Given the description of an element on the screen output the (x, y) to click on. 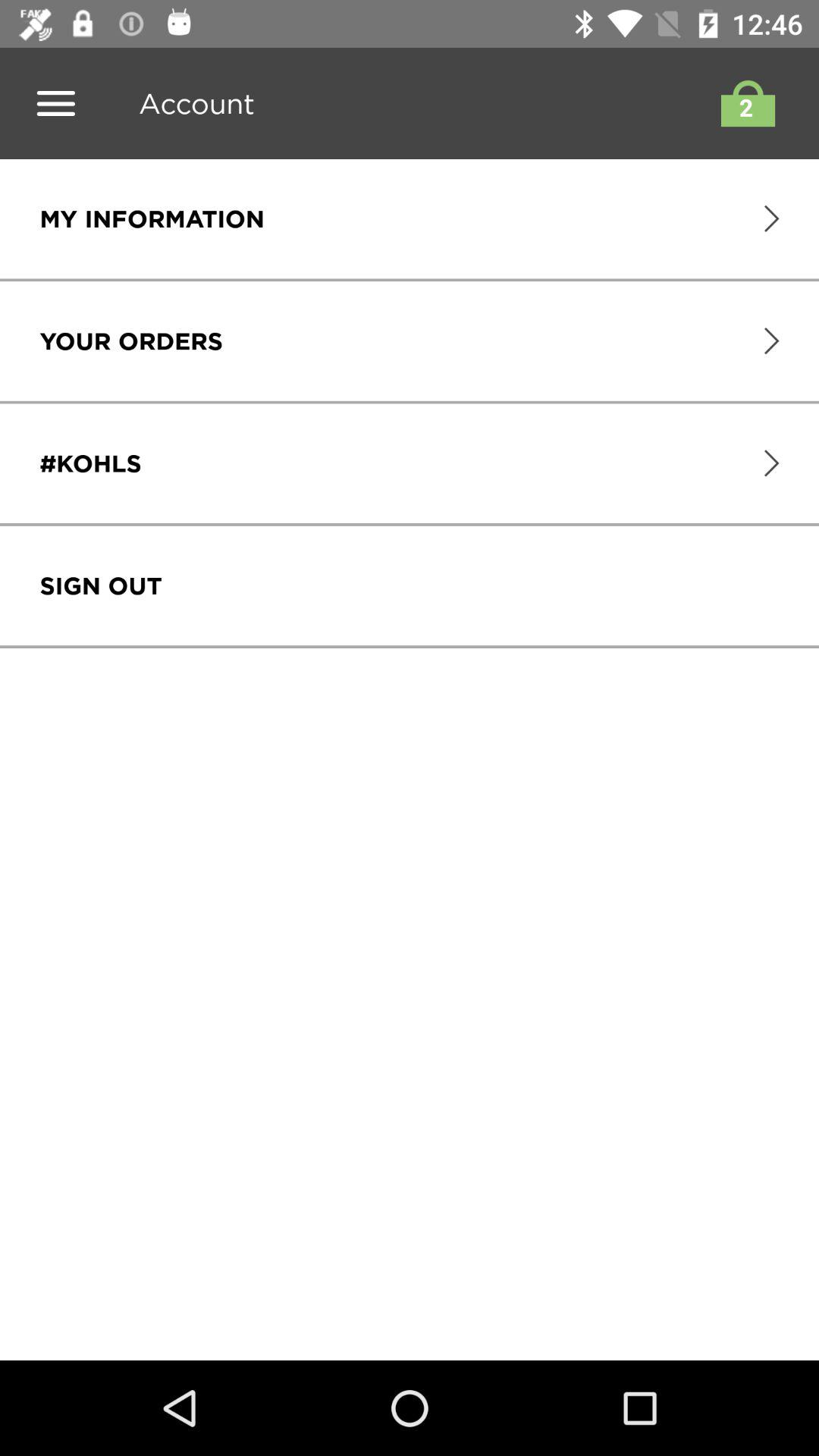
jump to the #kohls icon (90, 463)
